Given the description of an element on the screen output the (x, y) to click on. 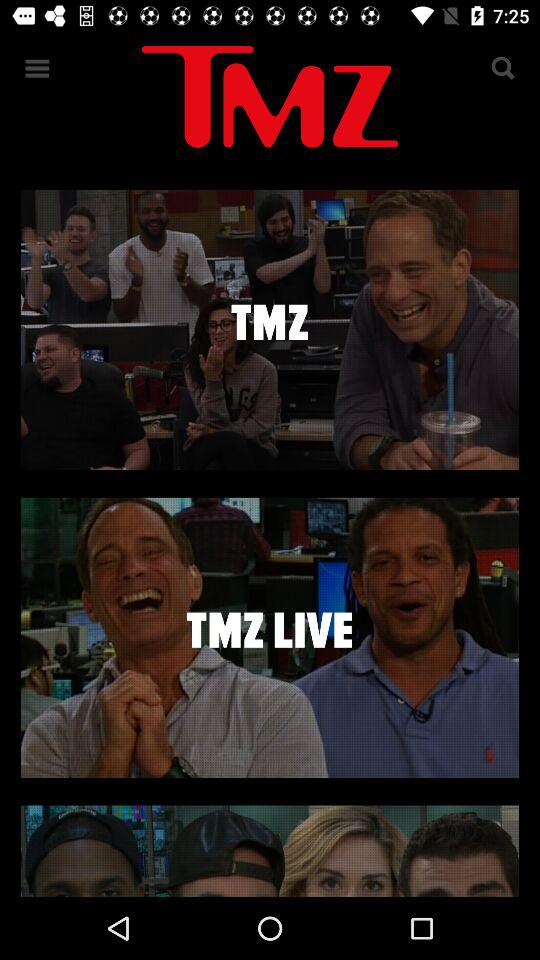
search bar (502, 68)
